Given the description of an element on the screen output the (x, y) to click on. 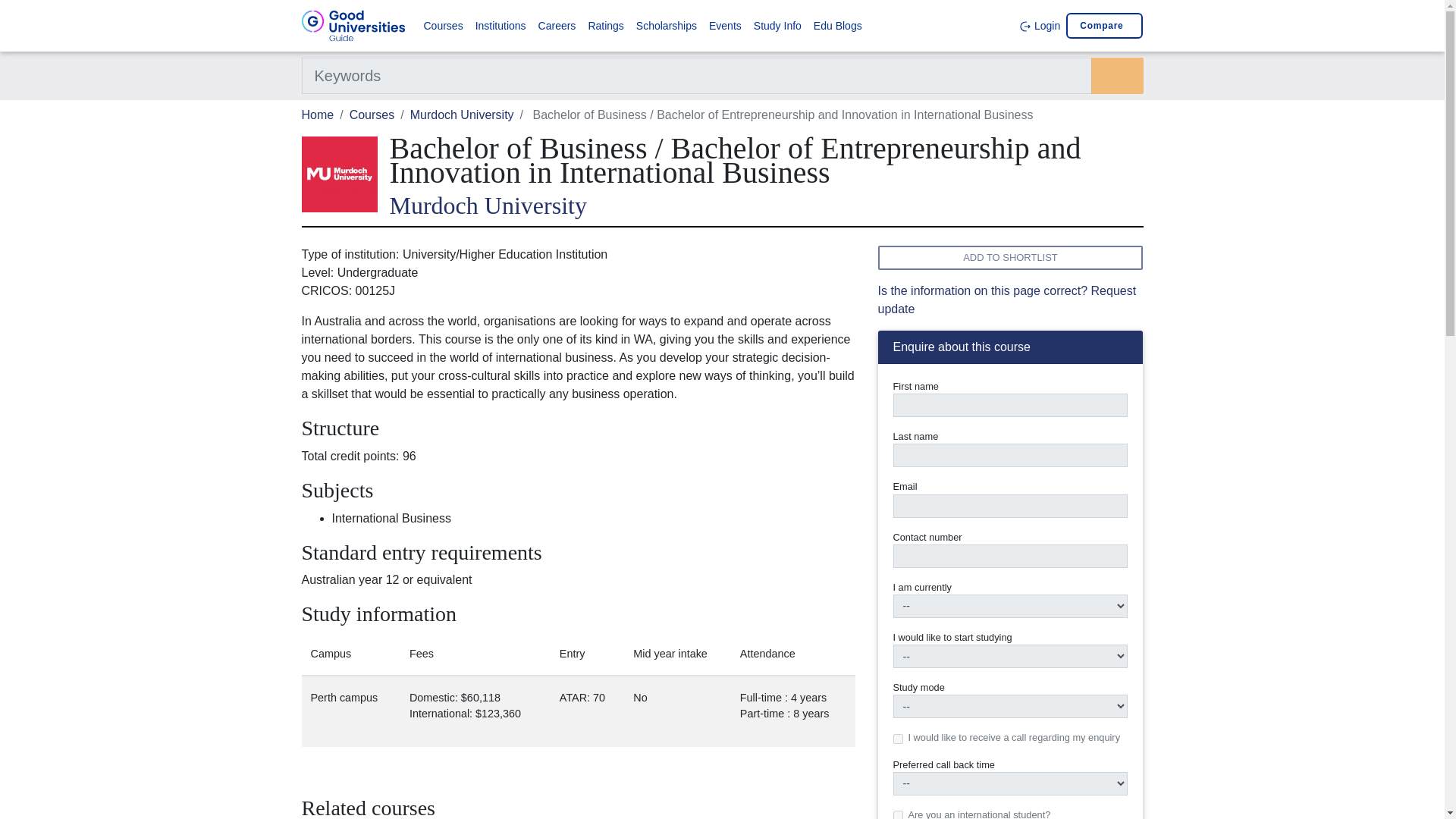
Is the information on this page correct? Request update (1007, 299)
Home (317, 114)
Edu Blogs (837, 25)
yes (897, 738)
Compare (1103, 25)
Careers (557, 25)
ADD TO SHORTLIST (1009, 257)
Murdoch University (461, 114)
Ratings (604, 25)
Institutions (500, 25)
